Given the description of an element on the screen output the (x, y) to click on. 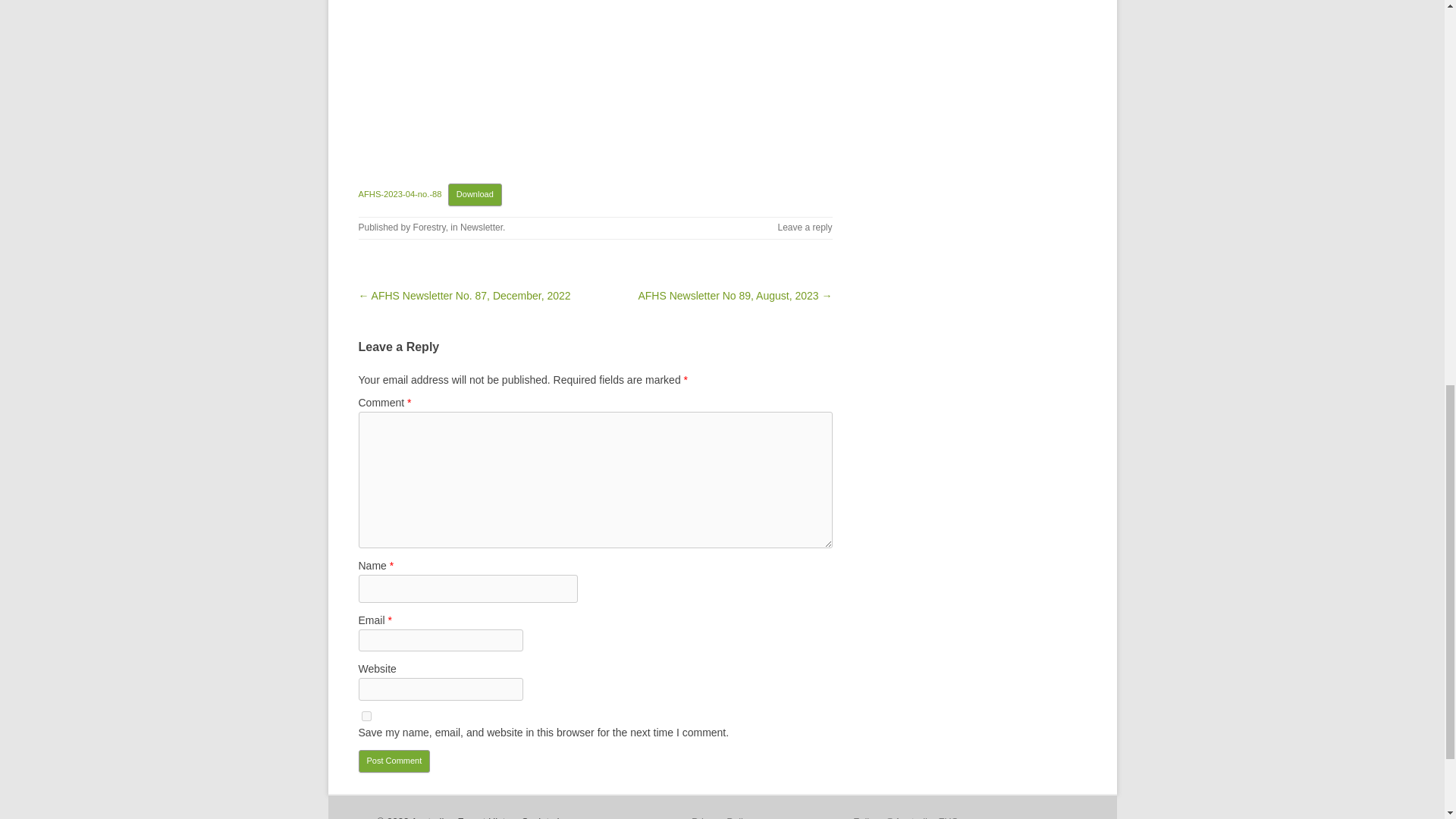
Post Comment (393, 761)
Newsletter (481, 226)
Forestry (429, 226)
yes (366, 716)
Post Comment (393, 761)
Download (475, 194)
View all posts by Forestry (429, 226)
AFHS-2023-04-no.-88 (399, 194)
Leave a reply (804, 226)
